Given the description of an element on the screen output the (x, y) to click on. 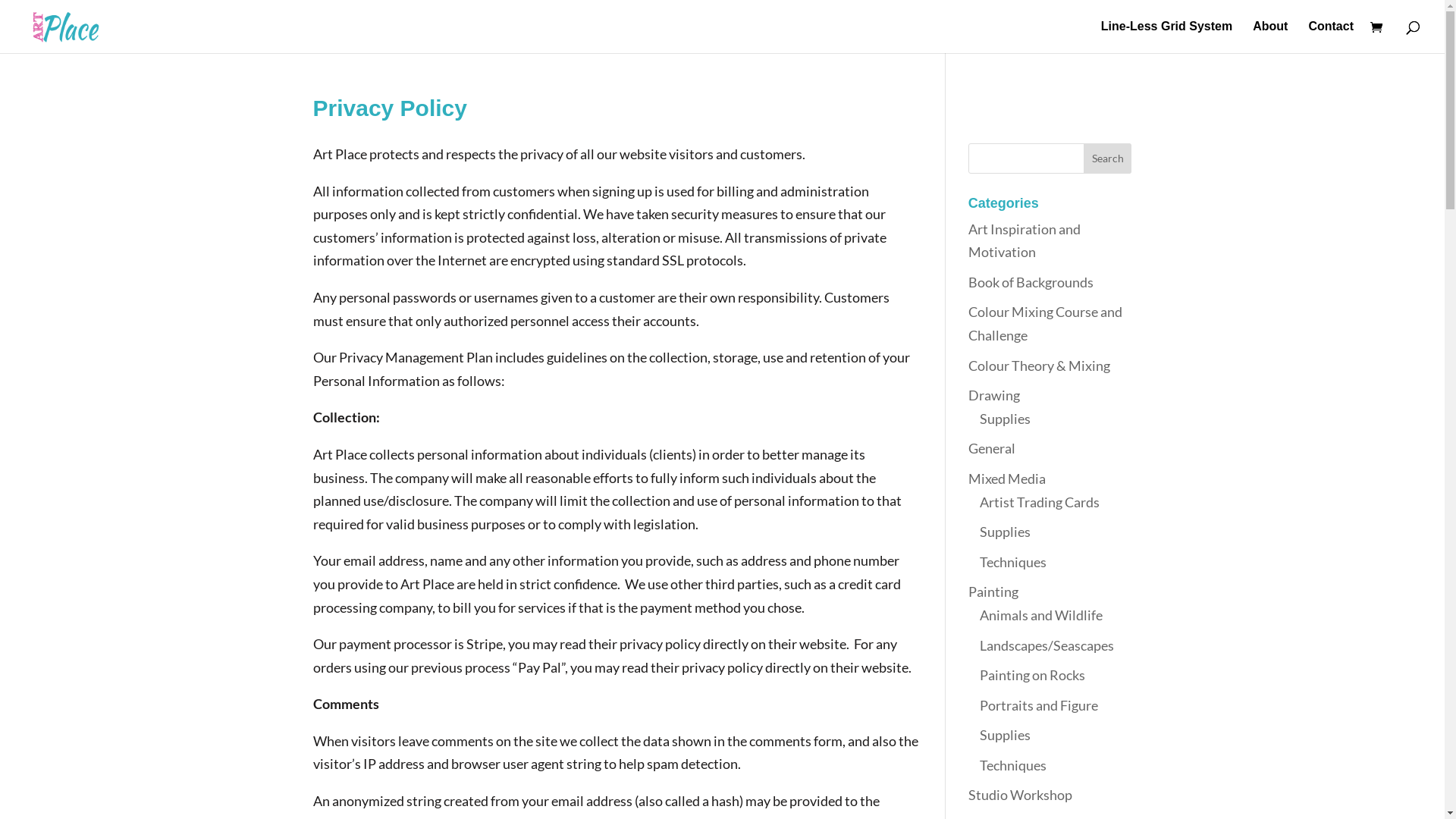
Animals and Wildlife Element type: text (1040, 614)
Book of Backgrounds Element type: text (1030, 281)
Painting Element type: text (993, 591)
Supplies Element type: text (1004, 734)
Studio Workshop Element type: text (1020, 794)
Mixed Media Element type: text (1006, 478)
Drawing Element type: text (993, 394)
Portraits and Figure Element type: text (1038, 704)
Line-Less Grid System Element type: text (1166, 37)
Art Inspiration and Motivation Element type: text (1024, 240)
Landscapes/Seascapes Element type: text (1046, 645)
Contact Element type: text (1330, 37)
Colour Mixing Course and Challenge Element type: text (1045, 323)
Techniques Element type: text (1012, 561)
Techniques Element type: text (1012, 764)
Supplies Element type: text (1004, 418)
Search Element type: text (1107, 158)
Colour Theory & Mixing Element type: text (1039, 365)
Painting on Rocks Element type: text (1032, 674)
General Element type: text (991, 447)
Artist Trading Cards Element type: text (1039, 501)
Supplies Element type: text (1004, 531)
About Element type: text (1269, 37)
